Given the description of an element on the screen output the (x, y) to click on. 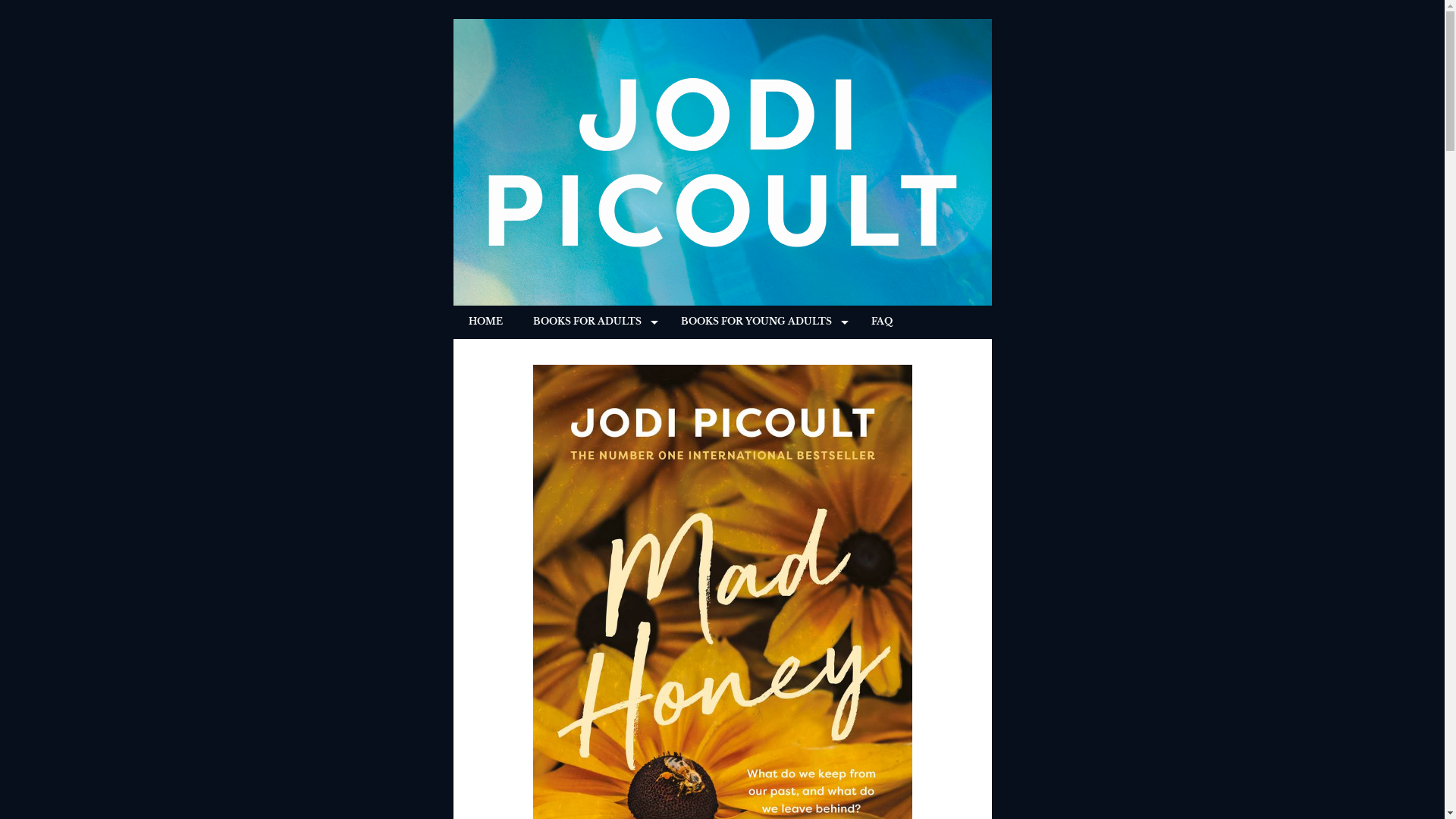
HOME Element type: text (485, 321)
BOOKS FOR ADULTS Element type: text (591, 321)
BOOKS FOR YOUNG ADULTS Element type: text (760, 321)
FAQ Element type: text (880, 321)
